Given the description of an element on the screen output the (x, y) to click on. 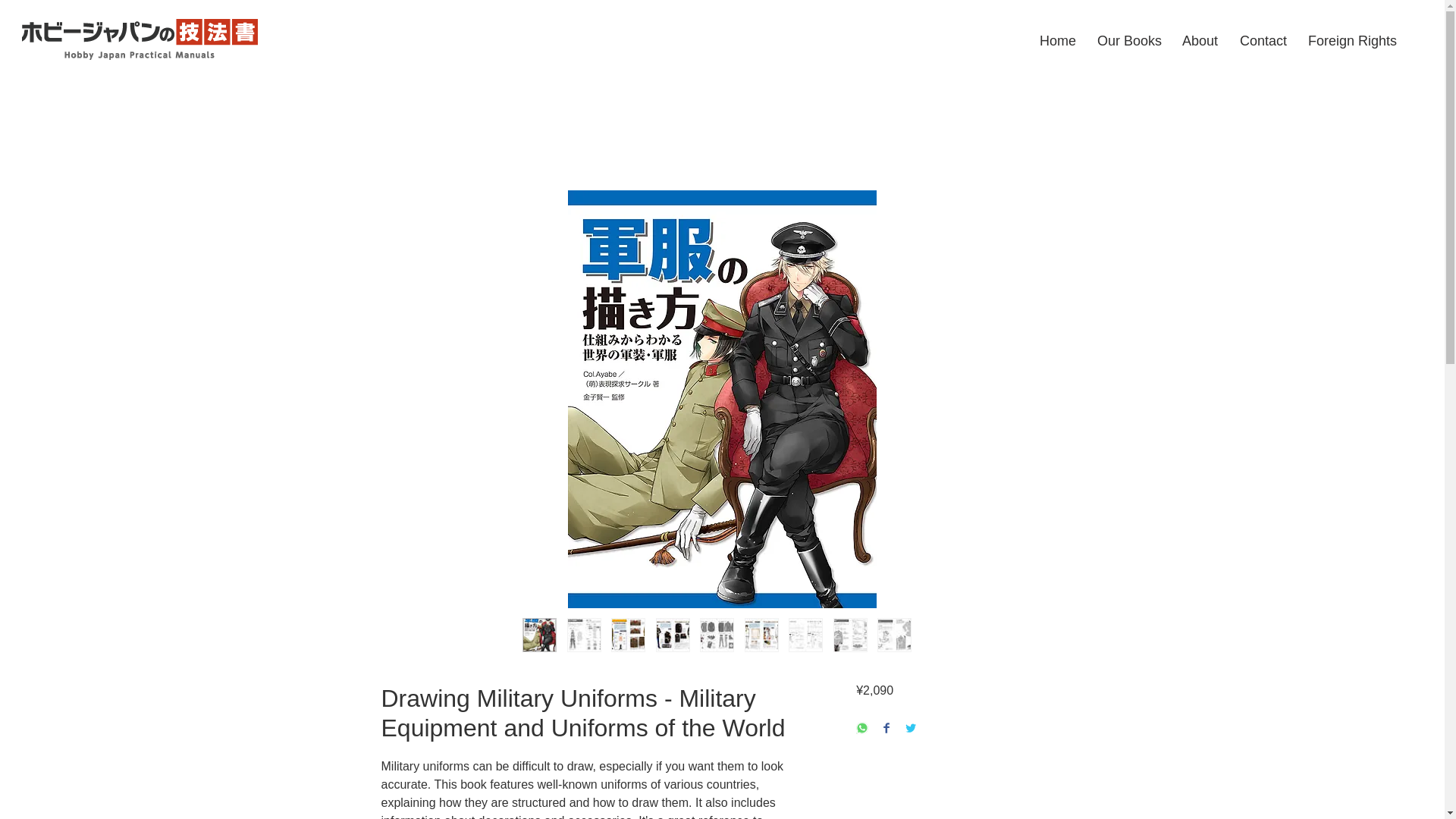
Foreign Rights (1350, 40)
Home (1056, 40)
Contact (1262, 40)
About (1199, 40)
Our Books (1128, 40)
